Given the description of an element on the screen output the (x, y) to click on. 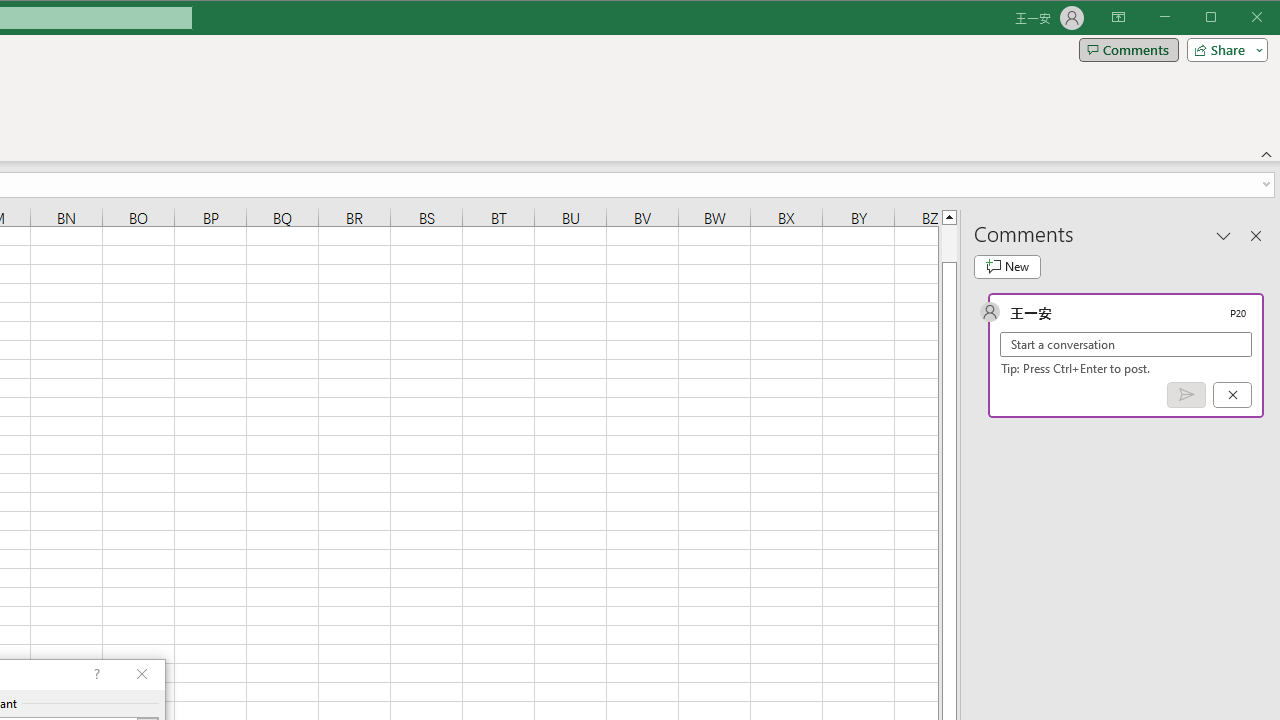
Cancel (1232, 395)
Start a conversation (1126, 344)
Page up (948, 243)
Post comment (Ctrl + Enter) (1186, 395)
Maximize (1239, 18)
